Given the description of an element on the screen output the (x, y) to click on. 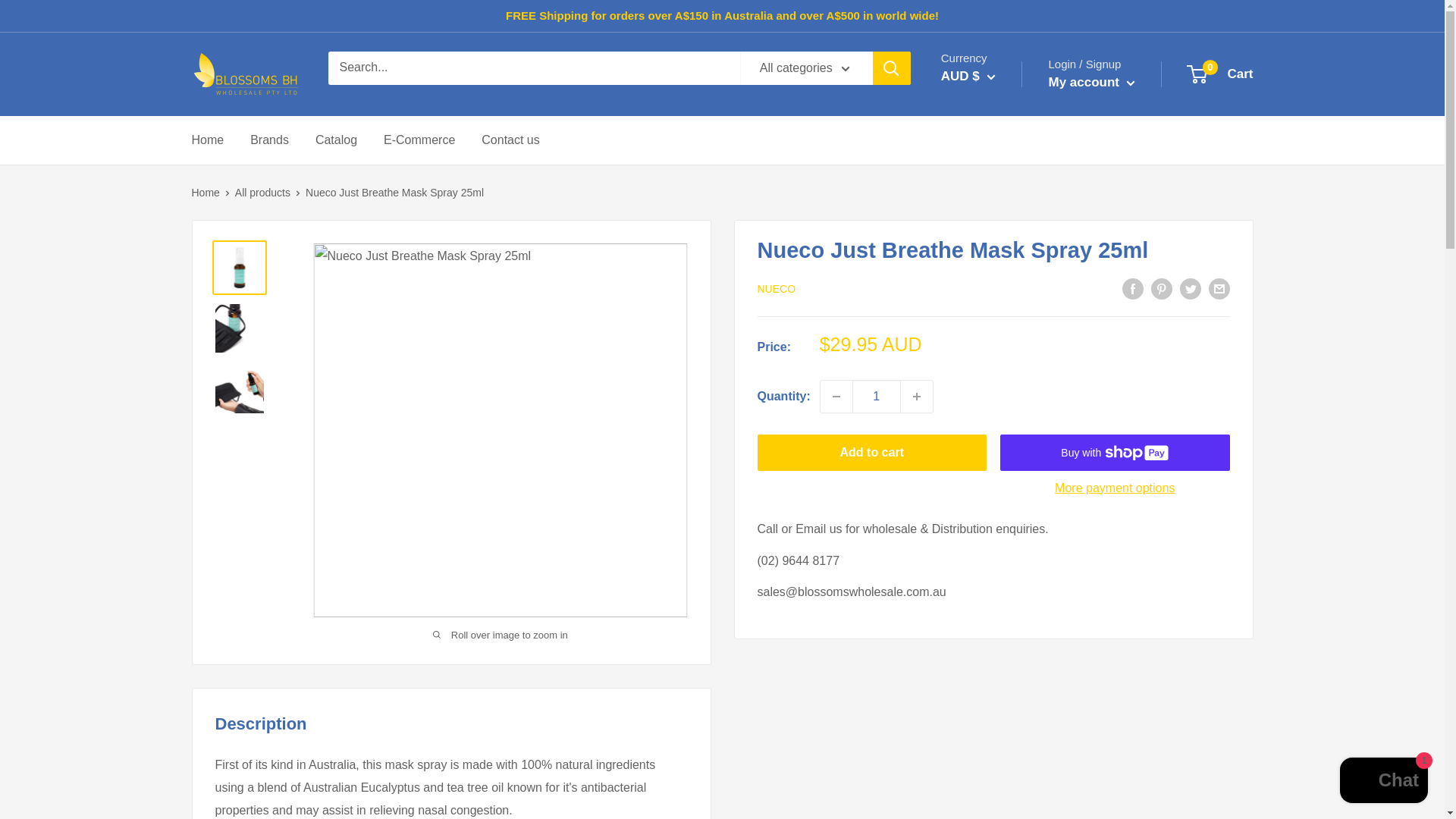
BZD (991, 647)
CHF (991, 716)
CAD (991, 670)
CRC (991, 762)
BOB (991, 577)
BWP (991, 623)
Blossoms BH Wholesale Pty Ltd (243, 74)
ALL (991, 299)
CZK (991, 807)
BAM (991, 438)
AUD (991, 370)
BSD (991, 601)
BBD (991, 462)
BDT (991, 484)
BND (991, 555)
